Given the description of an element on the screen output the (x, y) to click on. 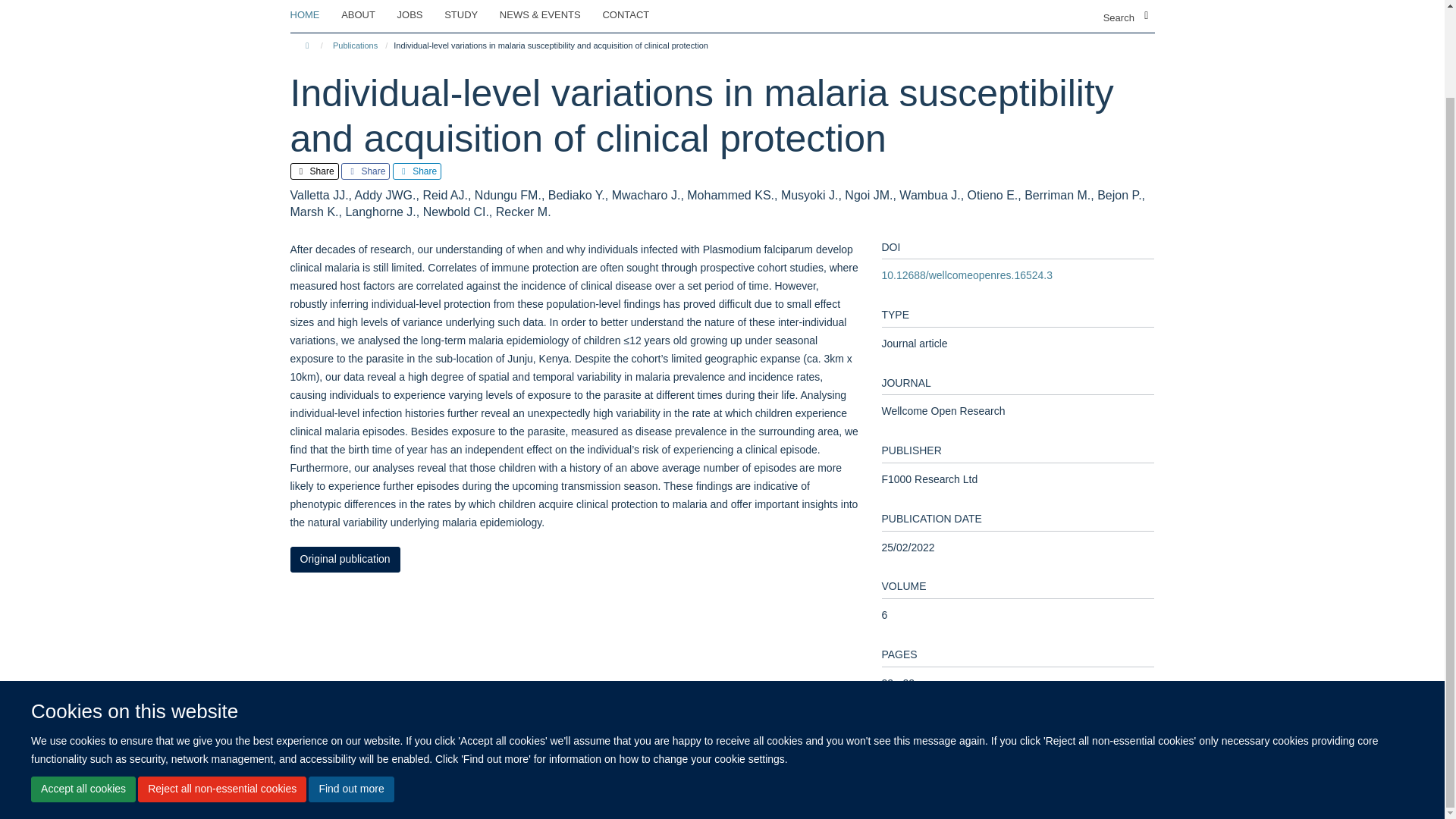
Reject all non-essential cookies (221, 689)
HOME (313, 15)
Accept all cookies (82, 689)
ABOUT (367, 15)
Find out more (350, 689)
